Given the description of an element on the screen output the (x, y) to click on. 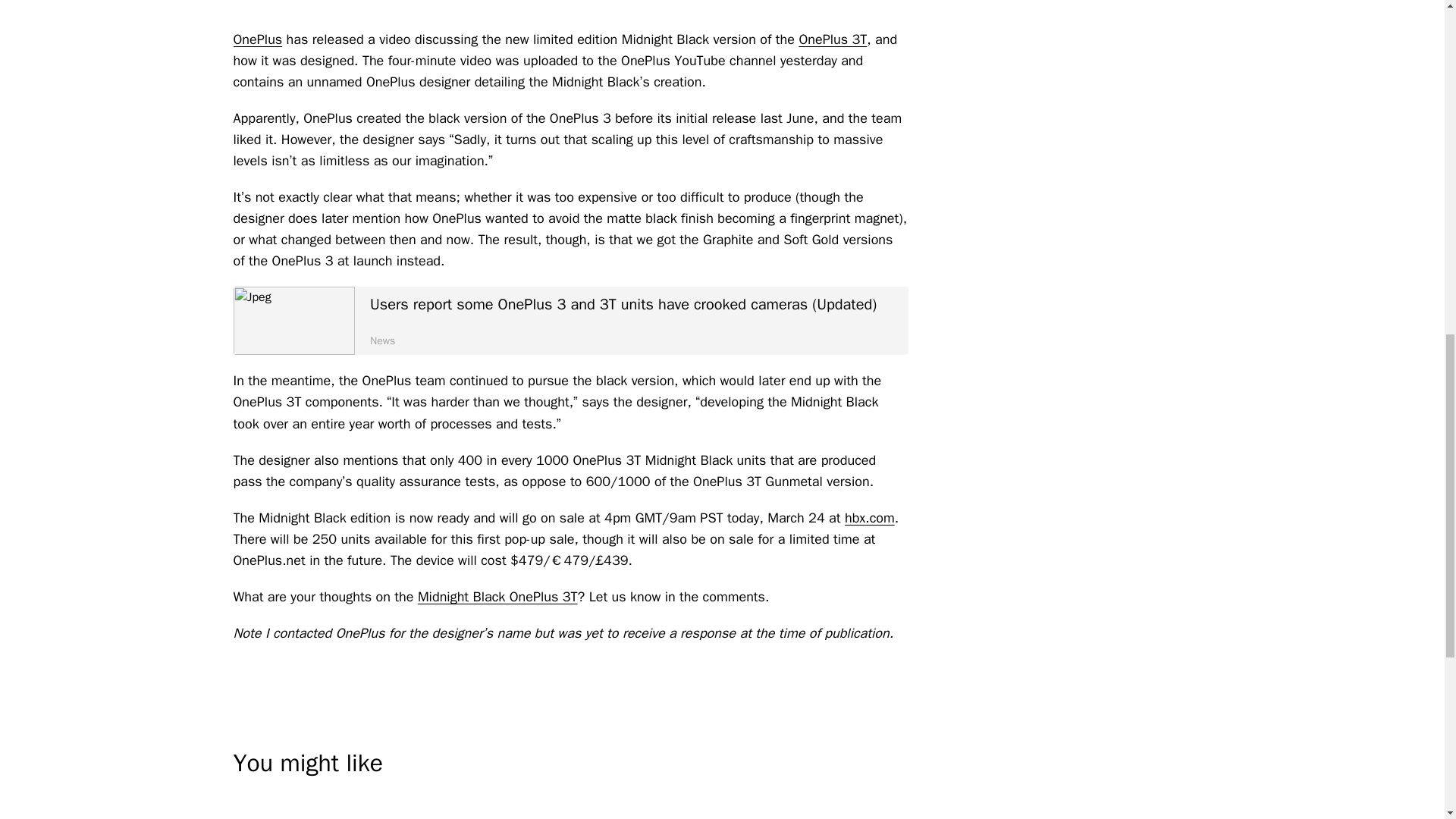
hbx.com (869, 517)
Midnight Black OnePlus 3T (497, 596)
OnePlus 3T (831, 39)
OnePlus (257, 39)
Jpeg (293, 320)
